Given the description of an element on the screen output the (x, y) to click on. 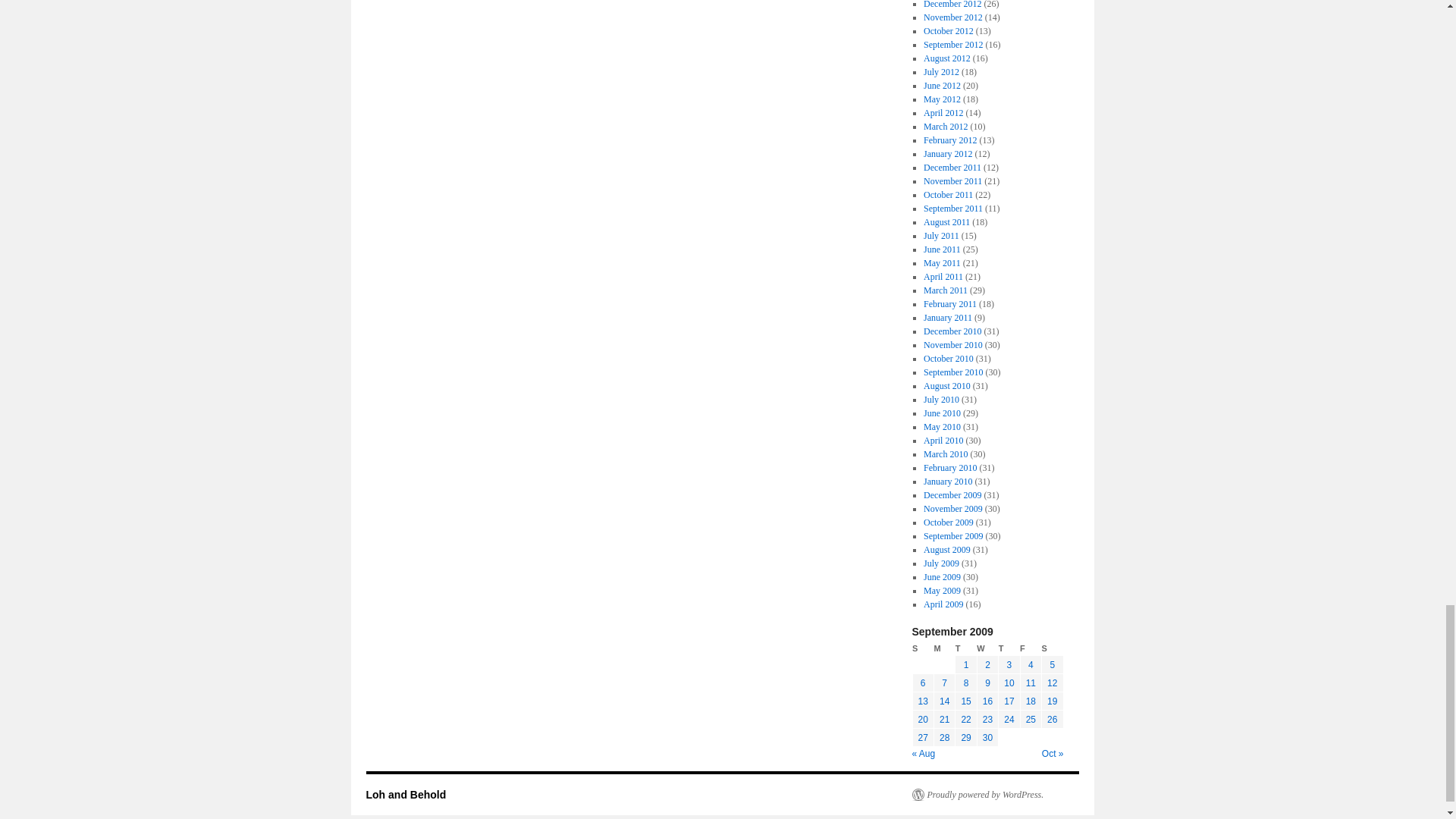
Tuesday (965, 648)
Sunday (922, 648)
Wednesday (986, 648)
Semantic Personal Publishing Platform (977, 794)
Saturday (1052, 648)
Thursday (1009, 648)
Monday (944, 648)
Friday (1030, 648)
